Given the description of an element on the screen output the (x, y) to click on. 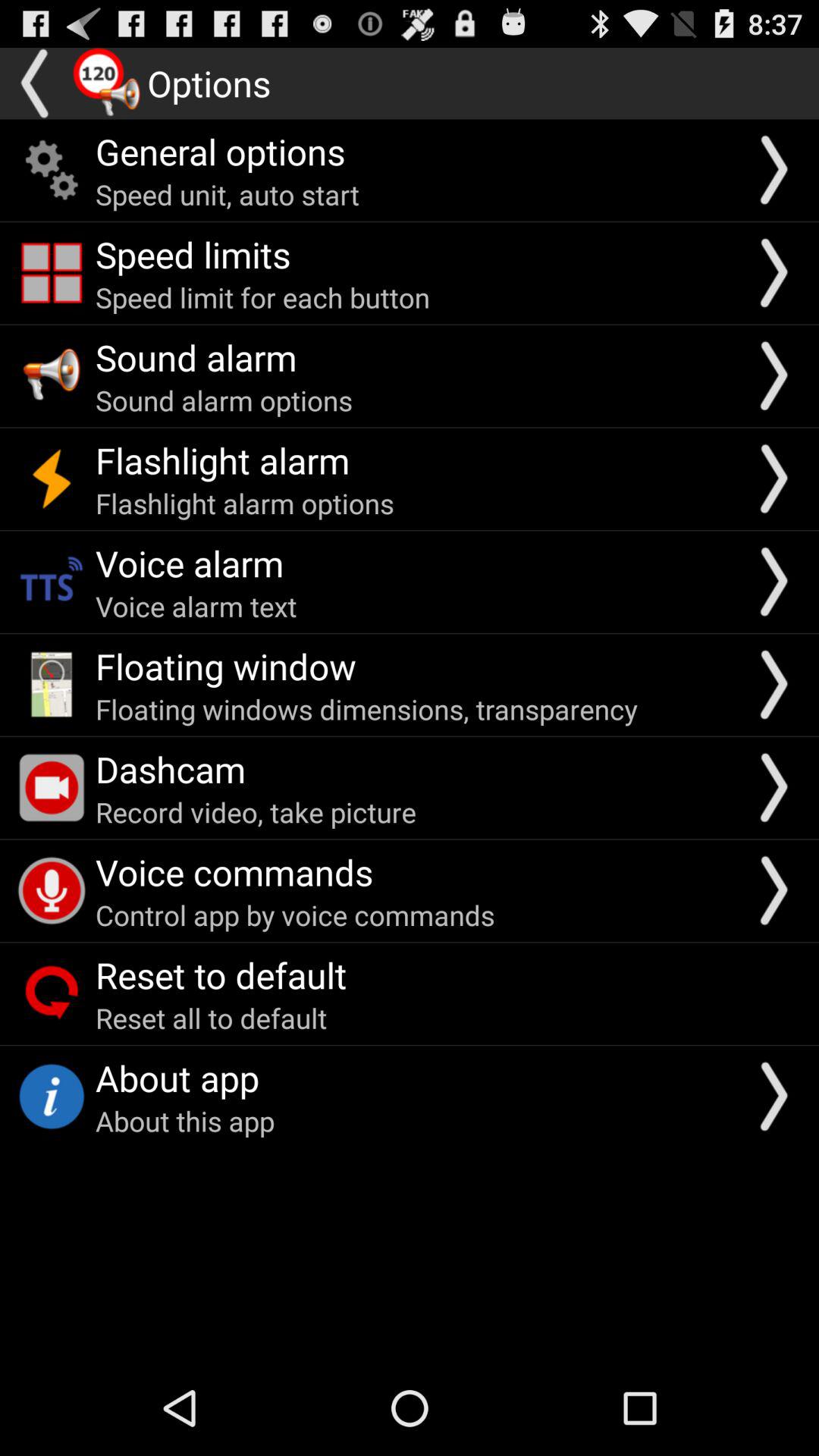
tap icon above the speed limit for app (192, 254)
